Given the description of an element on the screen output the (x, y) to click on. 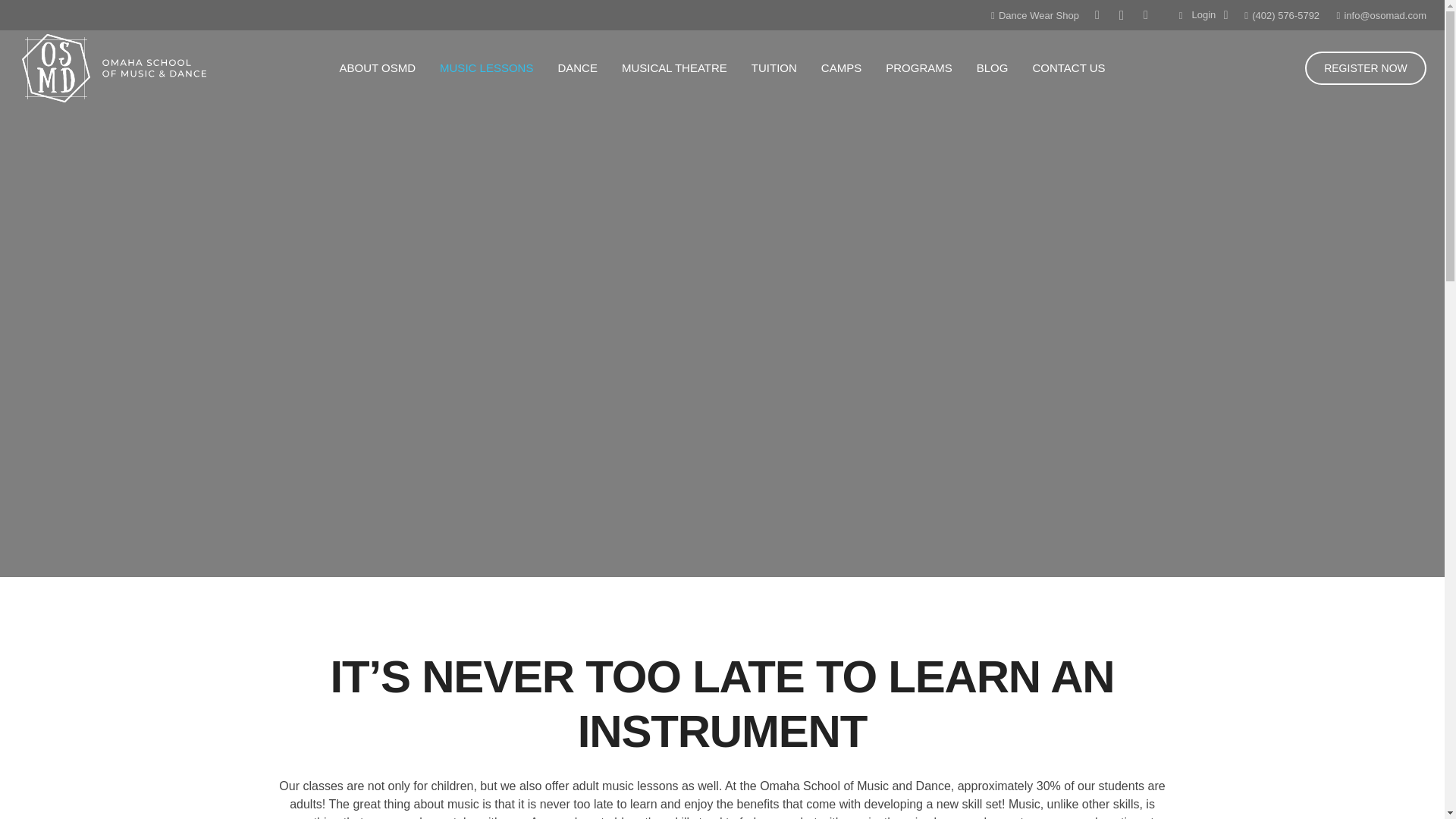
REGISTER NOW (1365, 68)
Dance Wear Shop (1034, 14)
CONTACT US (1068, 68)
Facebook (1096, 15)
TikTok (1145, 15)
MUSIC LESSONS (486, 68)
MUSICAL THEATRE (674, 68)
Instagram (1121, 15)
ABOUT OSMD (377, 68)
PROGRAMS (918, 68)
Login (1200, 14)
TUITION (774, 68)
